Given the description of an element on the screen output the (x, y) to click on. 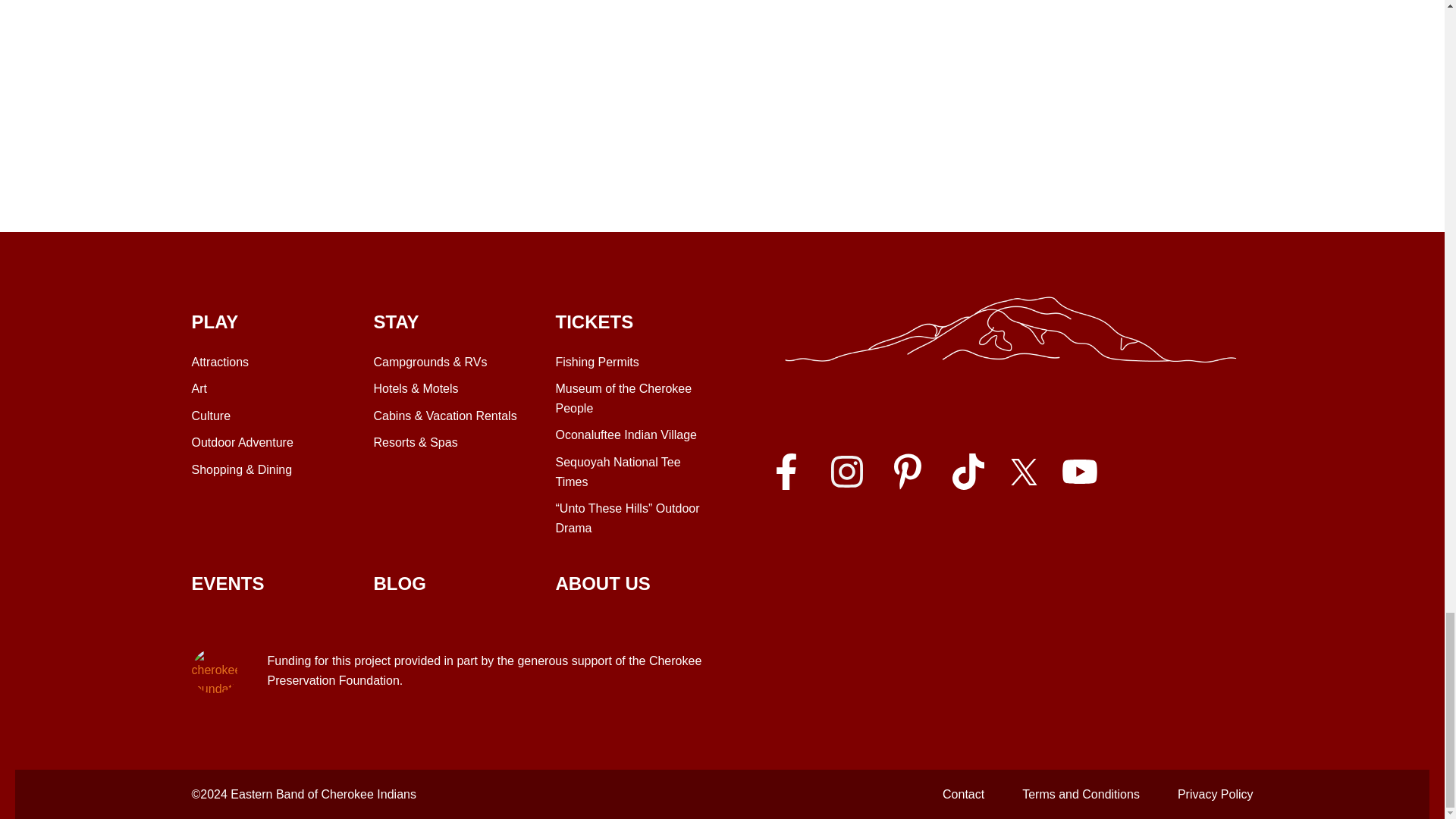
opens in a new tab (846, 471)
opens in a new tab (906, 471)
STAY (448, 321)
PLAY (266, 321)
opens in a new tab (967, 471)
BLOG (398, 583)
ABOUT US (601, 583)
TICKETS (630, 398)
Google map of museum of the cherokee people (630, 321)
Attractions (452, 47)
Outdoor Adventure (596, 362)
EVENTS (625, 435)
